Given the description of an element on the screen output the (x, y) to click on. 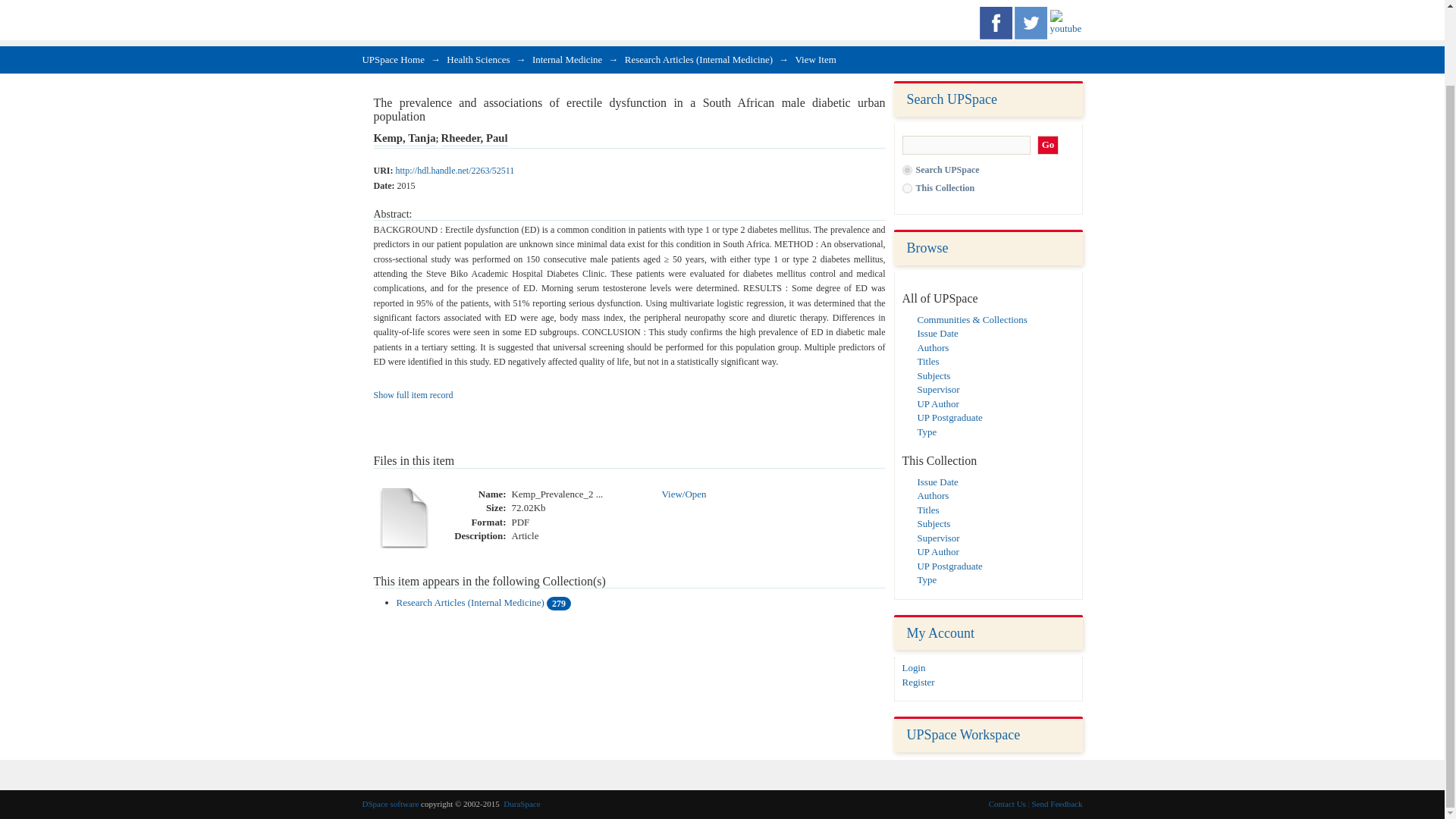
DuraSpace (521, 803)
UP Author (938, 403)
Titles (928, 360)
Type (927, 430)
Article (524, 536)
Go (1047, 144)
Go (1047, 144)
UP Postgraduate (949, 565)
Supervisor (938, 389)
UP Author (938, 551)
Internal Medicine (567, 59)
DSpace software (390, 803)
UPSpace Home (393, 59)
Issue Date (937, 481)
Subjects (933, 374)
